Given the description of an element on the screen output the (x, y) to click on. 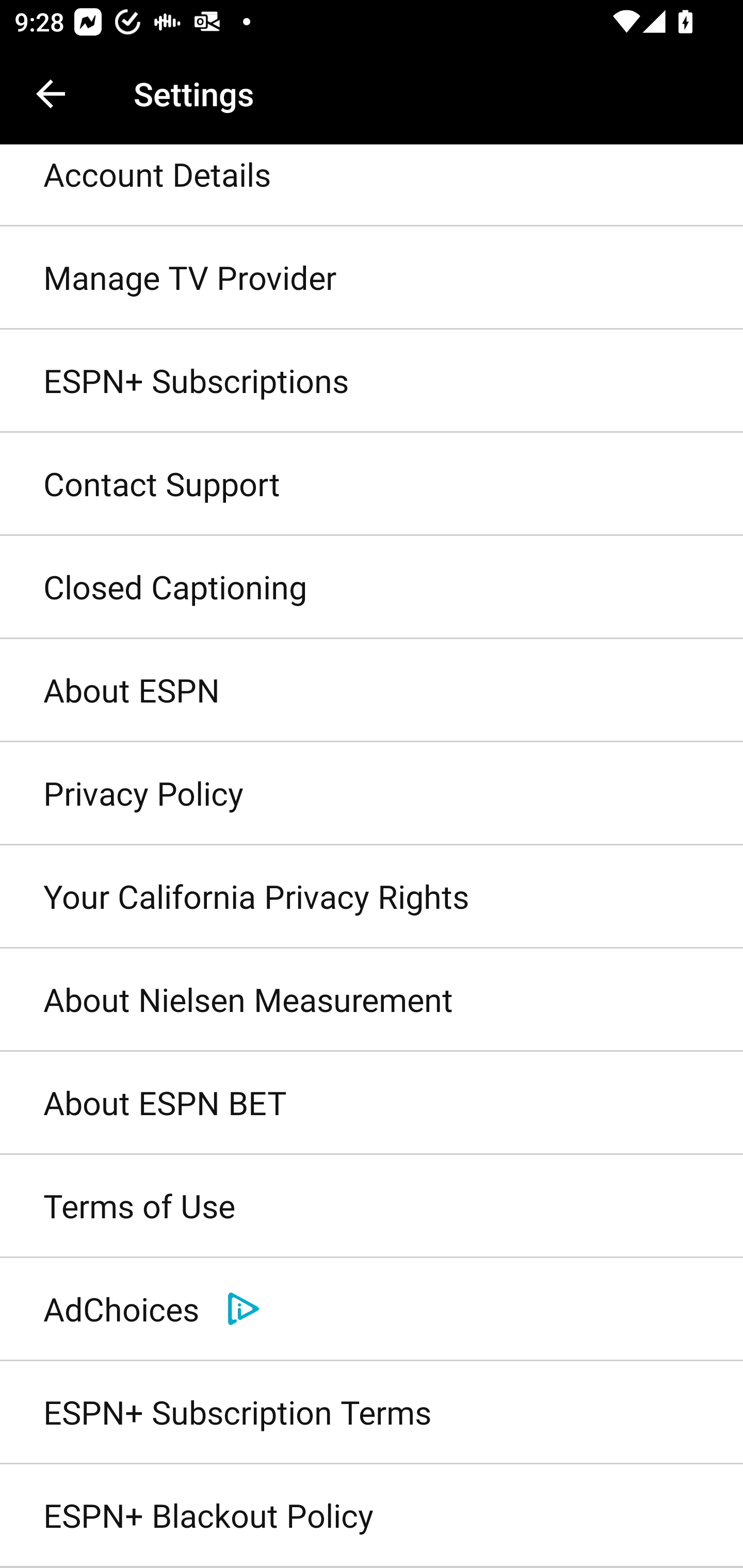
Navigate up (50, 93)
Account Details (371, 185)
Manage TV Provider (371, 277)
ESPN+ Subscriptions (371, 380)
Contact Support (371, 484)
Closed Captioning (371, 587)
About ESPN (371, 691)
Privacy Policy (371, 793)
Your California Privacy Rights (371, 896)
About Nielsen Measurement (371, 1000)
About ESPN BET (371, 1103)
Terms of Use (371, 1207)
AdChoices (371, 1309)
ESPN+ Subscription Terms (371, 1412)
ESPN+ Blackout Policy (371, 1516)
